Given the description of an element on the screen output the (x, y) to click on. 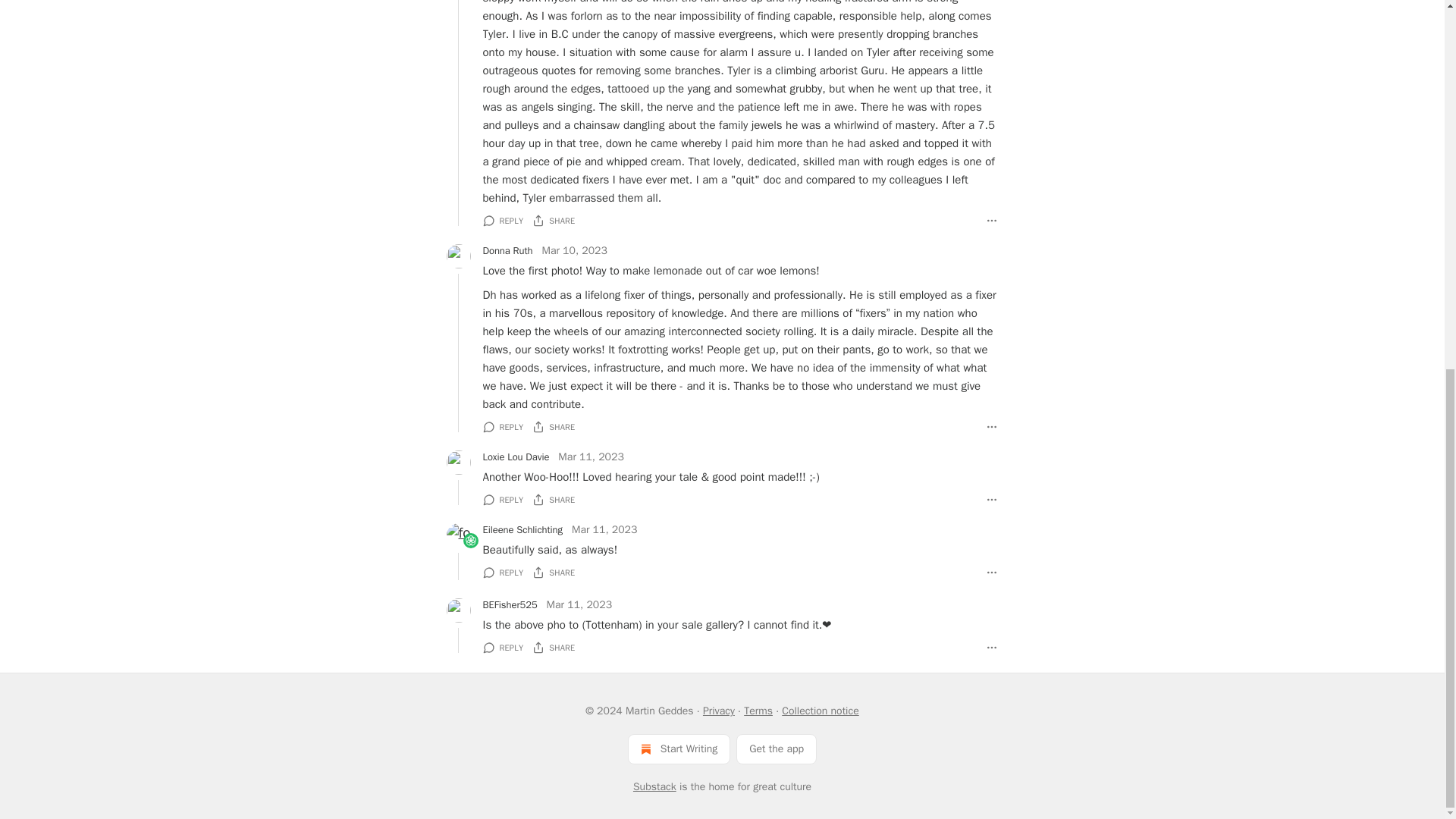
Founding Member (470, 540)
Founding Member (470, 540)
